Given the description of an element on the screen output the (x, y) to click on. 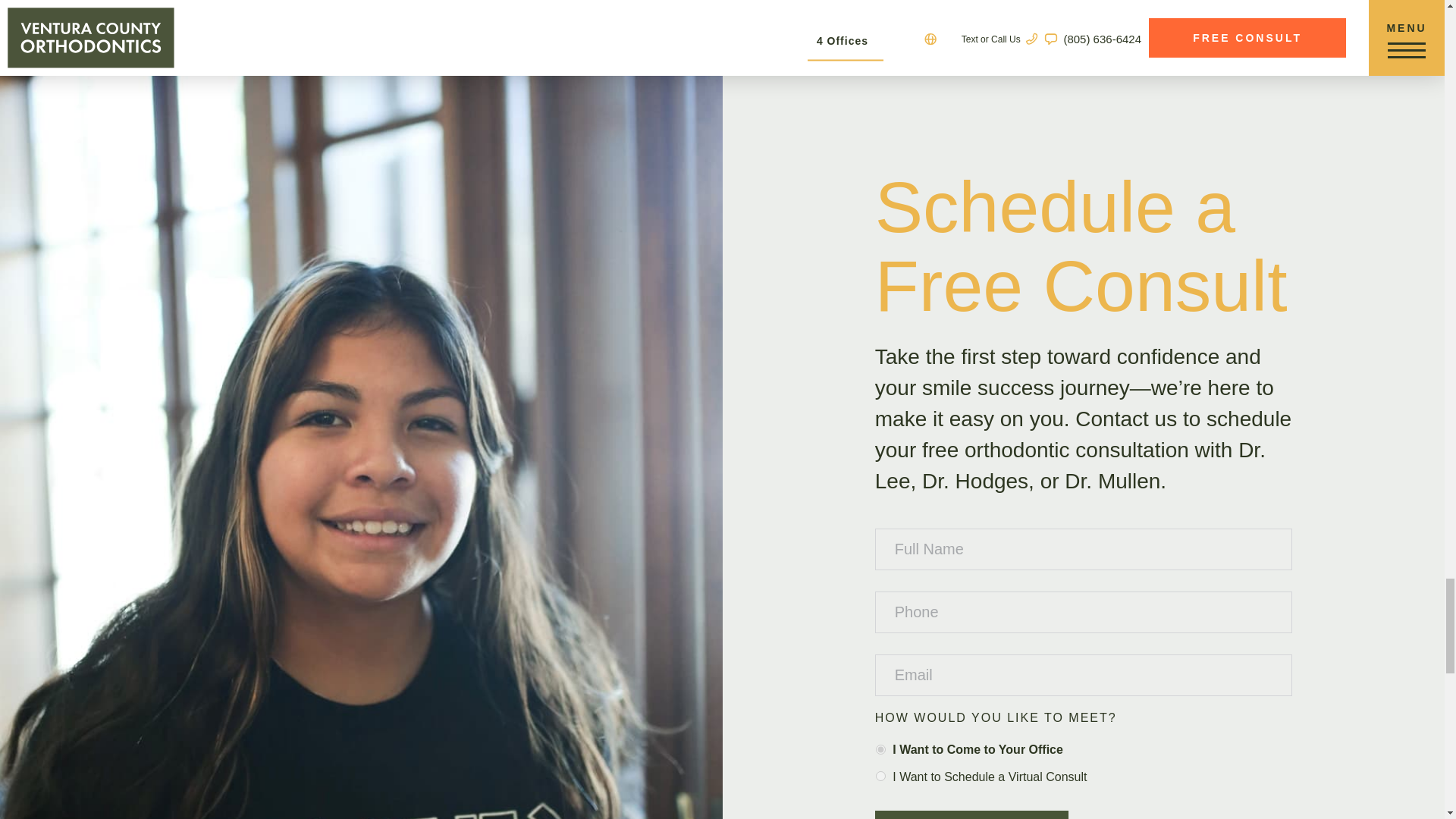
Let's Do This (971, 814)
I Want to Come to Your Office (880, 749)
I Want to Schedule a Virtual Consult (880, 776)
